Given the description of an element on the screen output the (x, y) to click on. 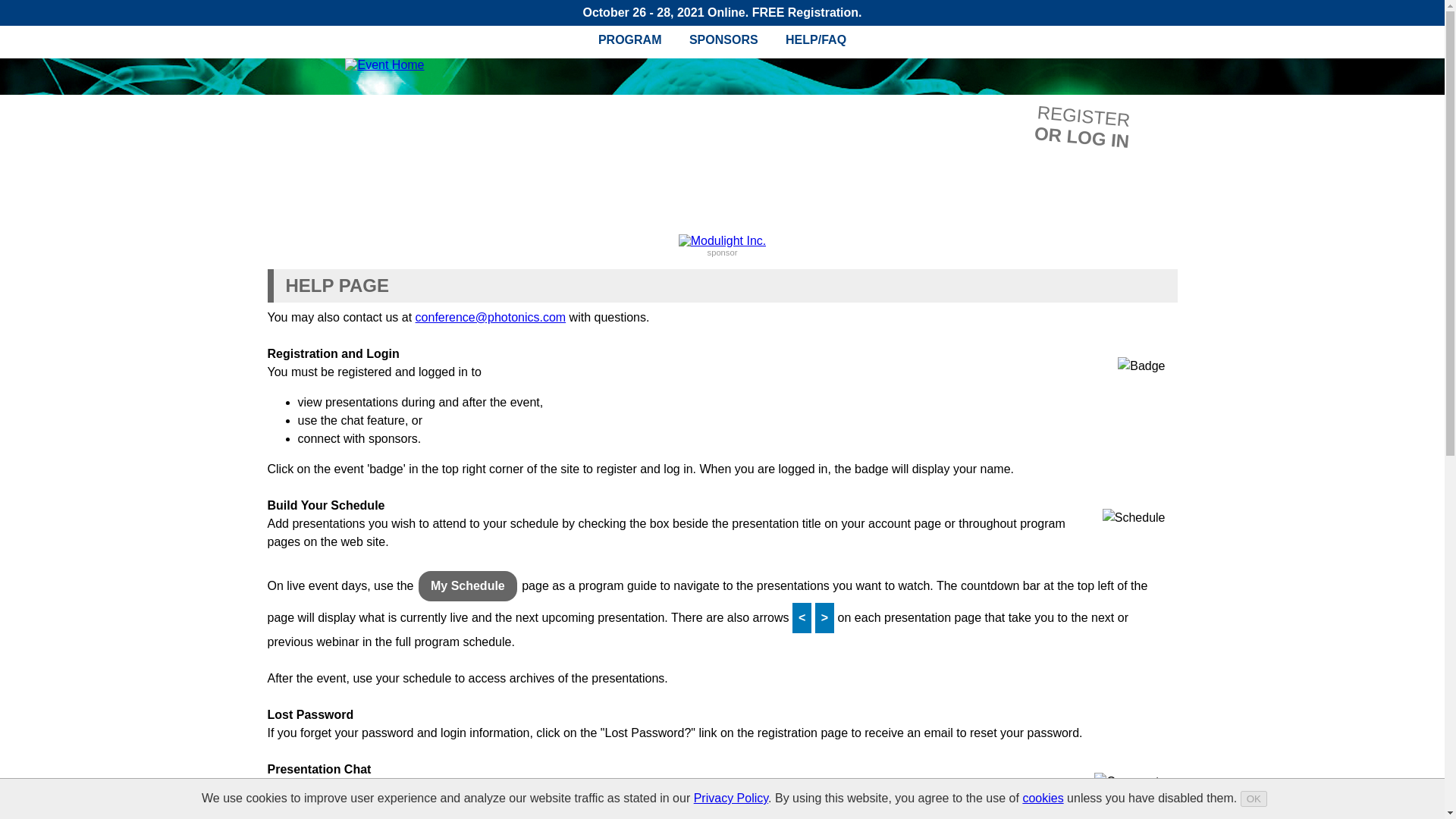
OK (1053, 114)
SPONSORS (1253, 798)
cookies (723, 40)
My Schedule (1042, 797)
PROGRAM (467, 585)
OK (630, 40)
Privacy Policy (1253, 798)
